Given the description of an element on the screen output the (x, y) to click on. 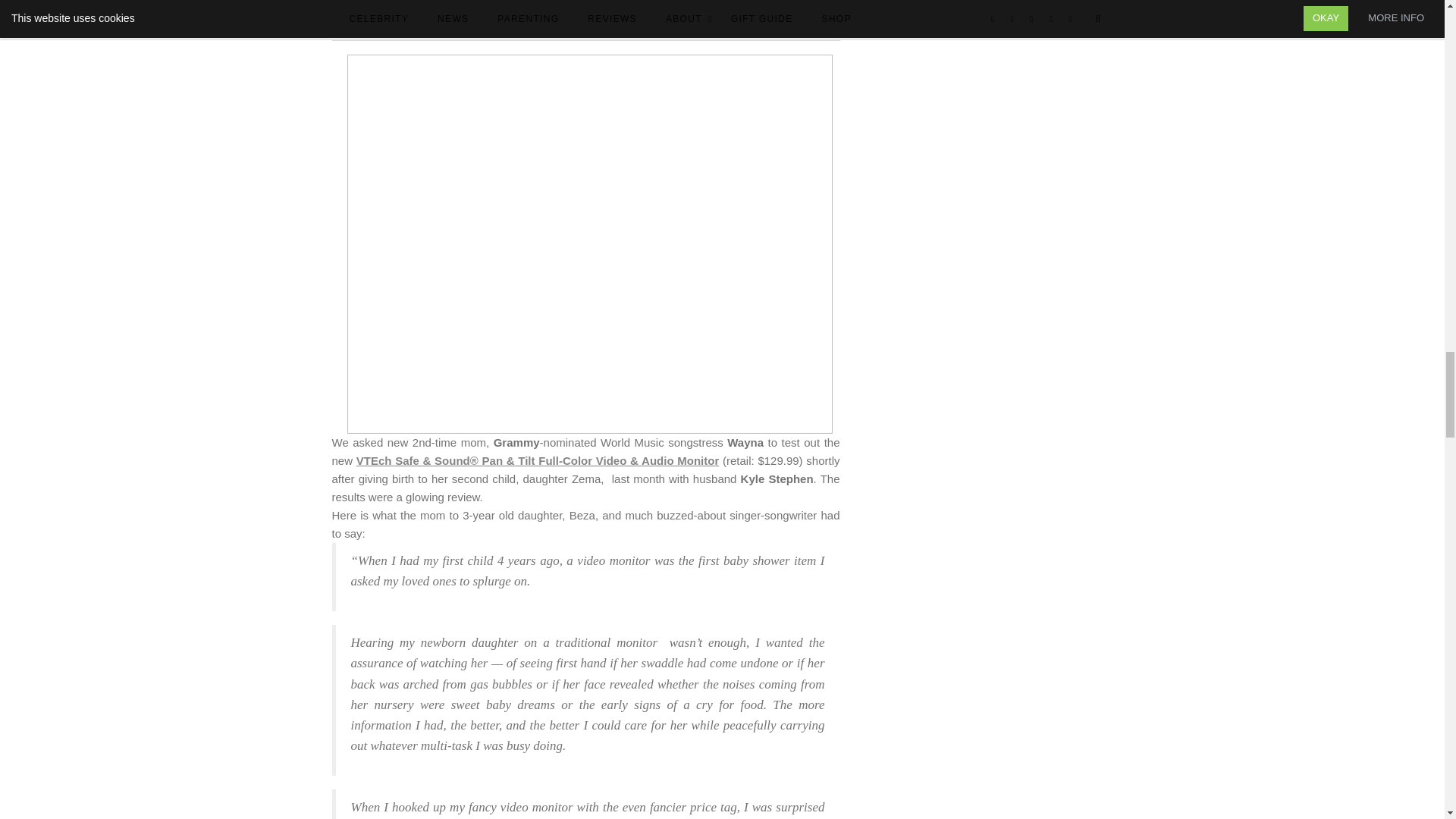
2014-04-28 19:04:00 (585, 13)
